Given the description of an element on the screen output the (x, y) to click on. 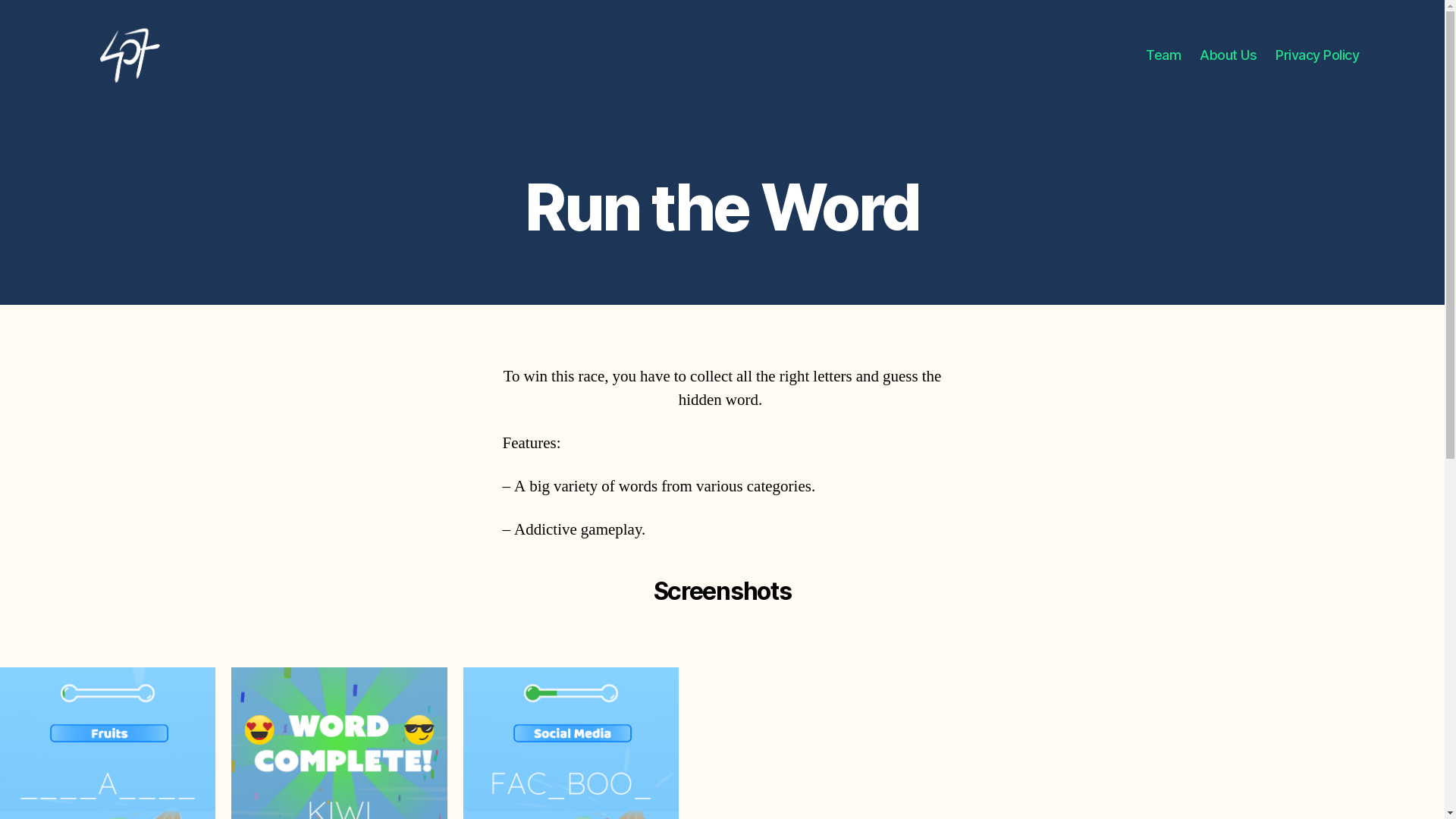
Privacy Policy Element type: text (1316, 55)
About Us Element type: text (1227, 55)
Team Element type: text (1162, 55)
